Given the description of an element on the screen output the (x, y) to click on. 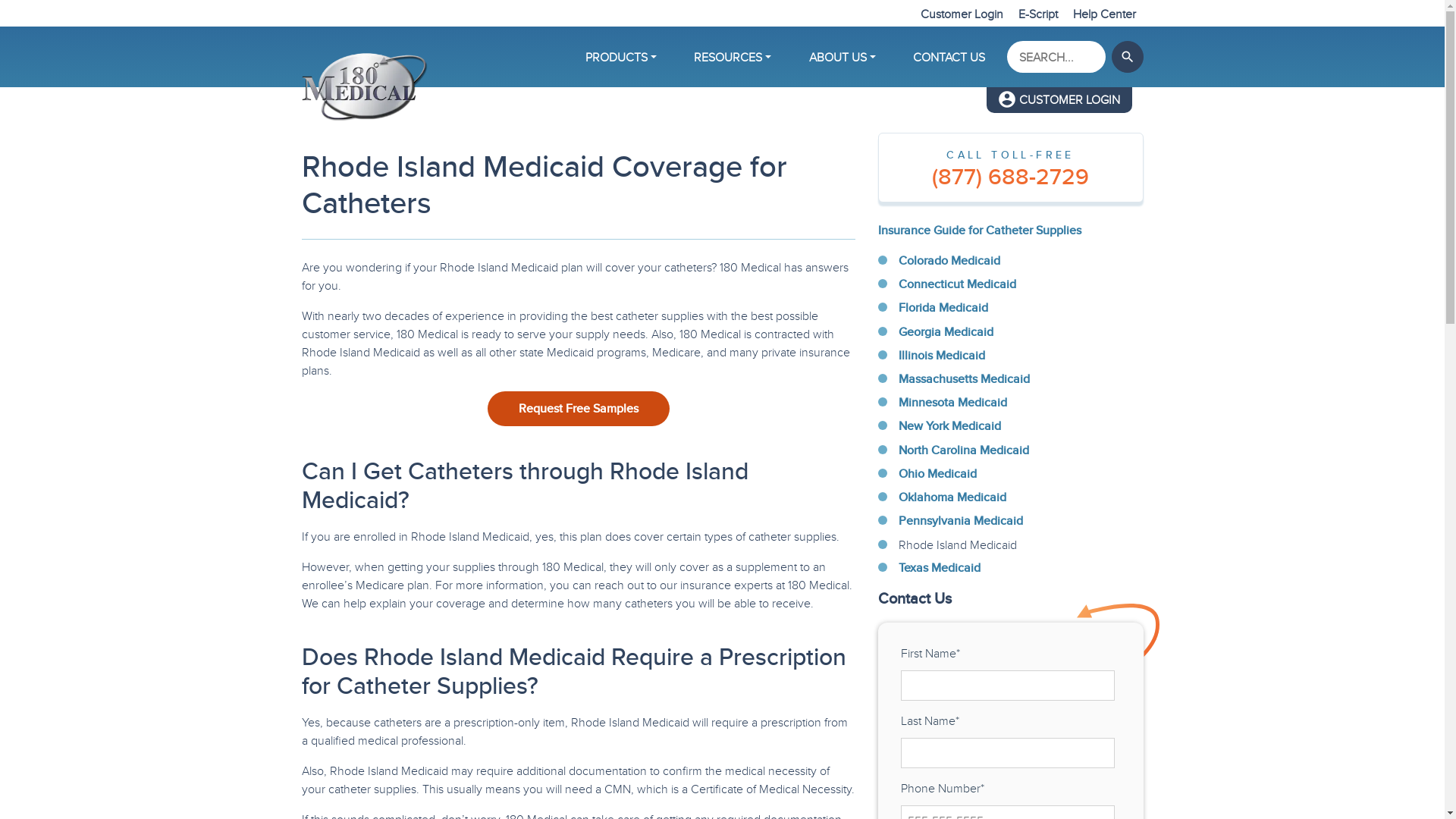
E-Script Element type: text (1037, 13)
Florida Medicaid Element type: text (942, 307)
ABOUT US Element type: text (842, 56)
New York Medicaid Element type: text (948, 426)
Illinois Medicaid Element type: text (940, 355)
Connecticut Medicaid Element type: text (956, 283)
Customer Login Element type: text (961, 13)
Texas Medicaid Element type: text (938, 567)
RESOURCES Element type: text (732, 56)
Georgia Medicaid Element type: text (944, 332)
Search by keyword Element type: hover (1056, 56)
(877) 688-2729 Element type: text (1010, 176)
Minnesota Medicaid Element type: text (951, 402)
CONTACT US Element type: text (949, 56)
Request Free Samples Element type: text (577, 408)
Help Center Element type: text (1103, 13)
Massachusetts Medicaid Element type: text (963, 379)
North Carolina Medicaid Element type: text (962, 450)
CUSTOMER LOGIN Element type: text (1058, 99)
Colorado Medicaid Element type: text (948, 260)
PRODUCTS Element type: text (620, 56)
search Element type: text (1127, 56)
Insurance Guide for Catheter Supplies Element type: text (979, 229)
Ohio Medicaid Element type: text (936, 473)
Pennsylvania Medicaid Element type: text (959, 520)
Oklahoma Medicaid Element type: text (951, 497)
